Given the description of an element on the screen output the (x, y) to click on. 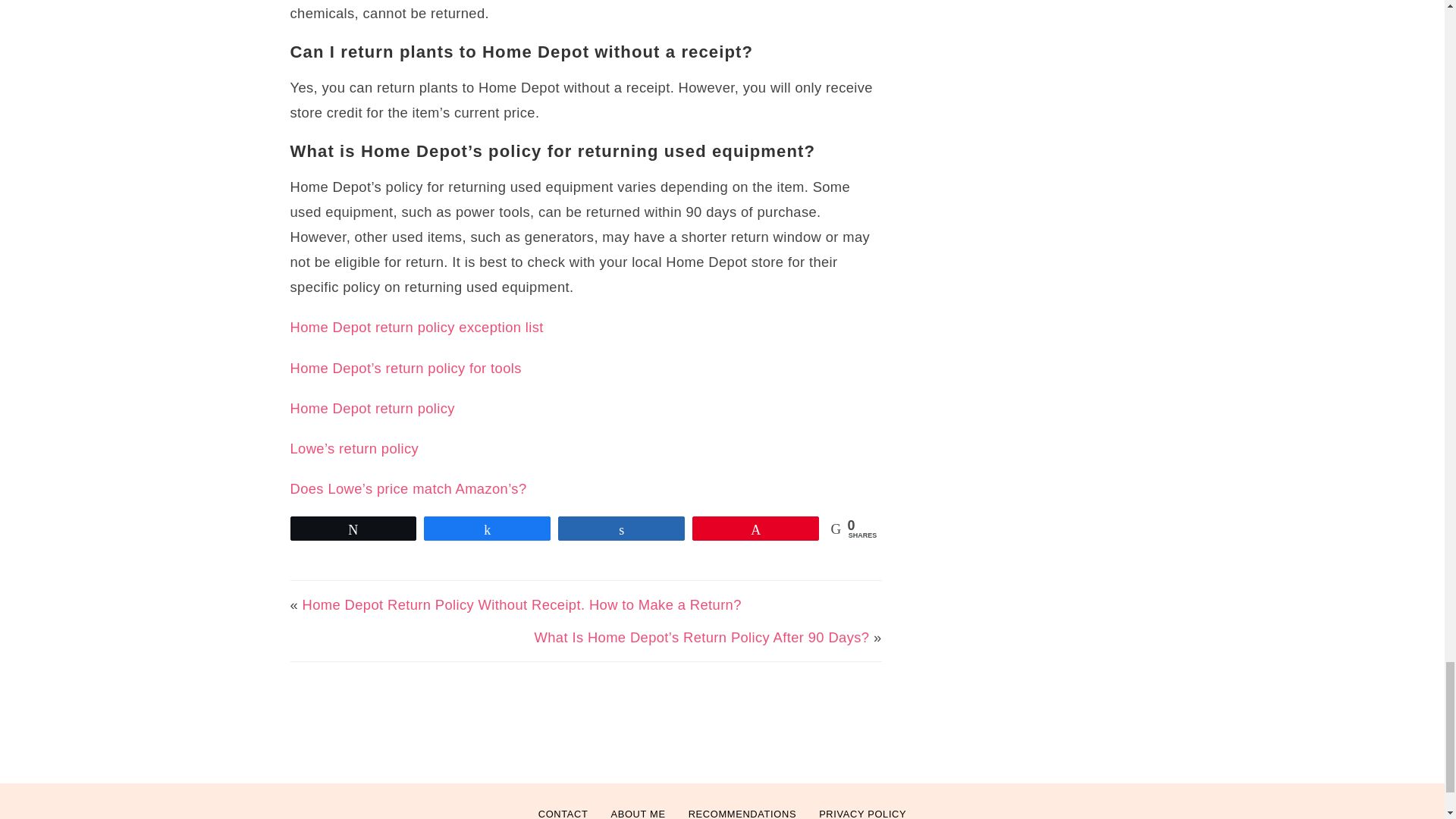
Home Depot return policy exception list (416, 326)
CONTACT (563, 808)
PRIVACY POLICY (862, 808)
ABOUT ME (637, 808)
RECOMMENDATIONS (742, 808)
Home Depot return policy (371, 408)
